Given the description of an element on the screen output the (x, y) to click on. 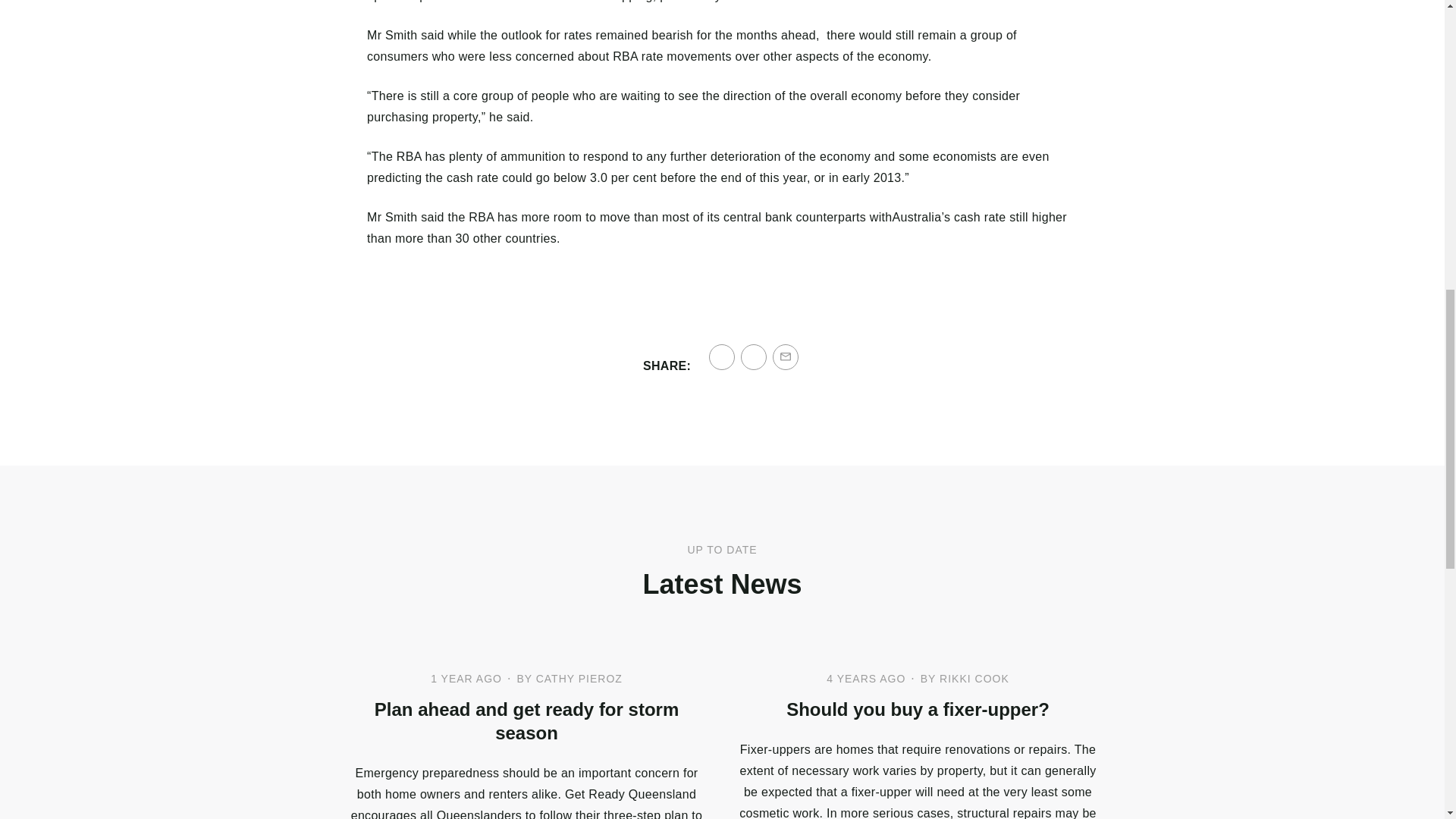
Plan ahead and get ready for storm season (526, 720)
Should you buy a fixer-upper? (916, 709)
Email (785, 356)
Twitter (754, 356)
Facebook (722, 356)
